Given the description of an element on the screen output the (x, y) to click on. 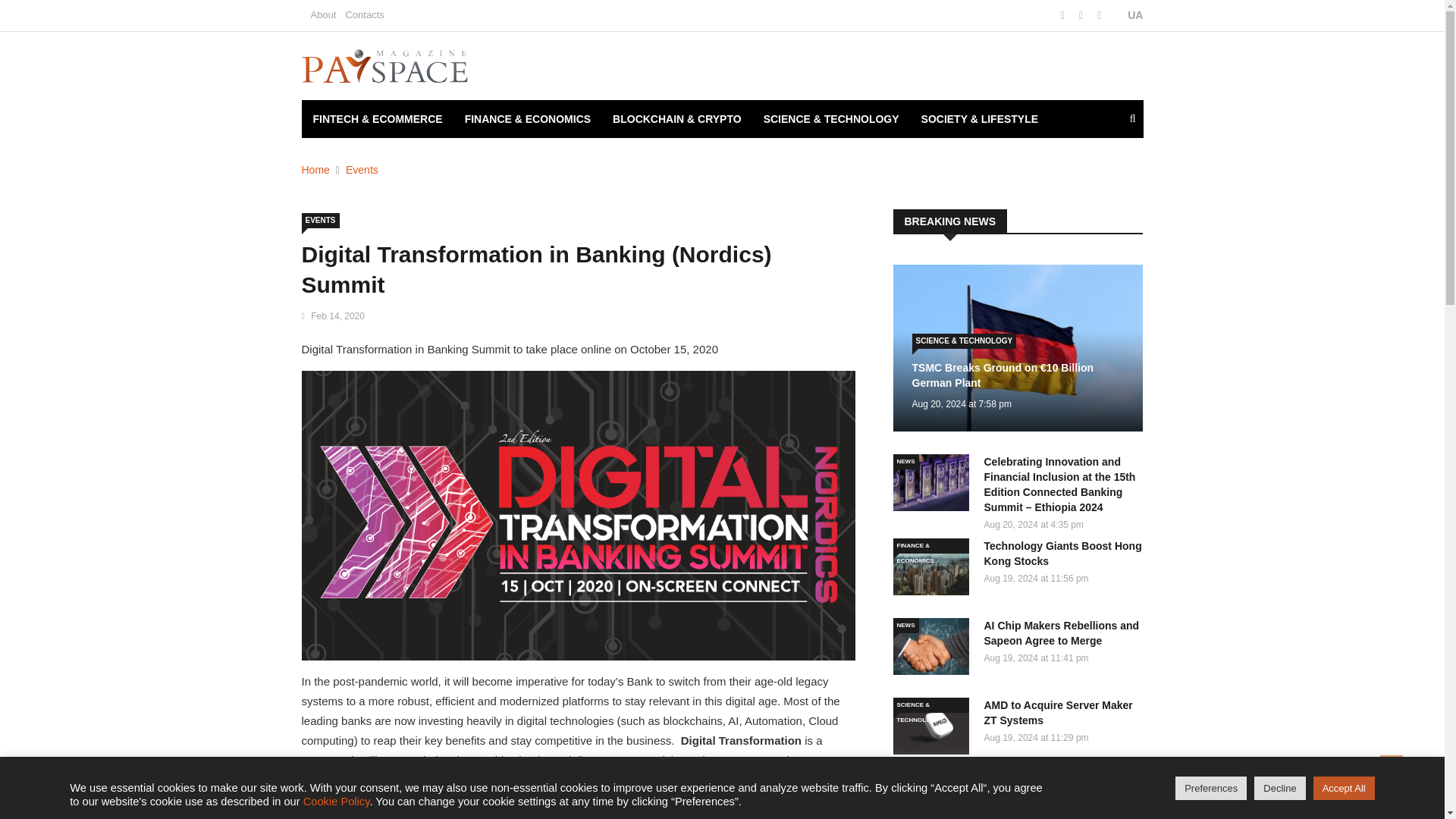
Events (362, 169)
Contacts (364, 14)
UA (1127, 15)
About (323, 14)
Back to Top (1391, 766)
BIN CHECKER (349, 157)
EVENTS (320, 220)
Home (315, 169)
